Given the description of an element on the screen output the (x, y) to click on. 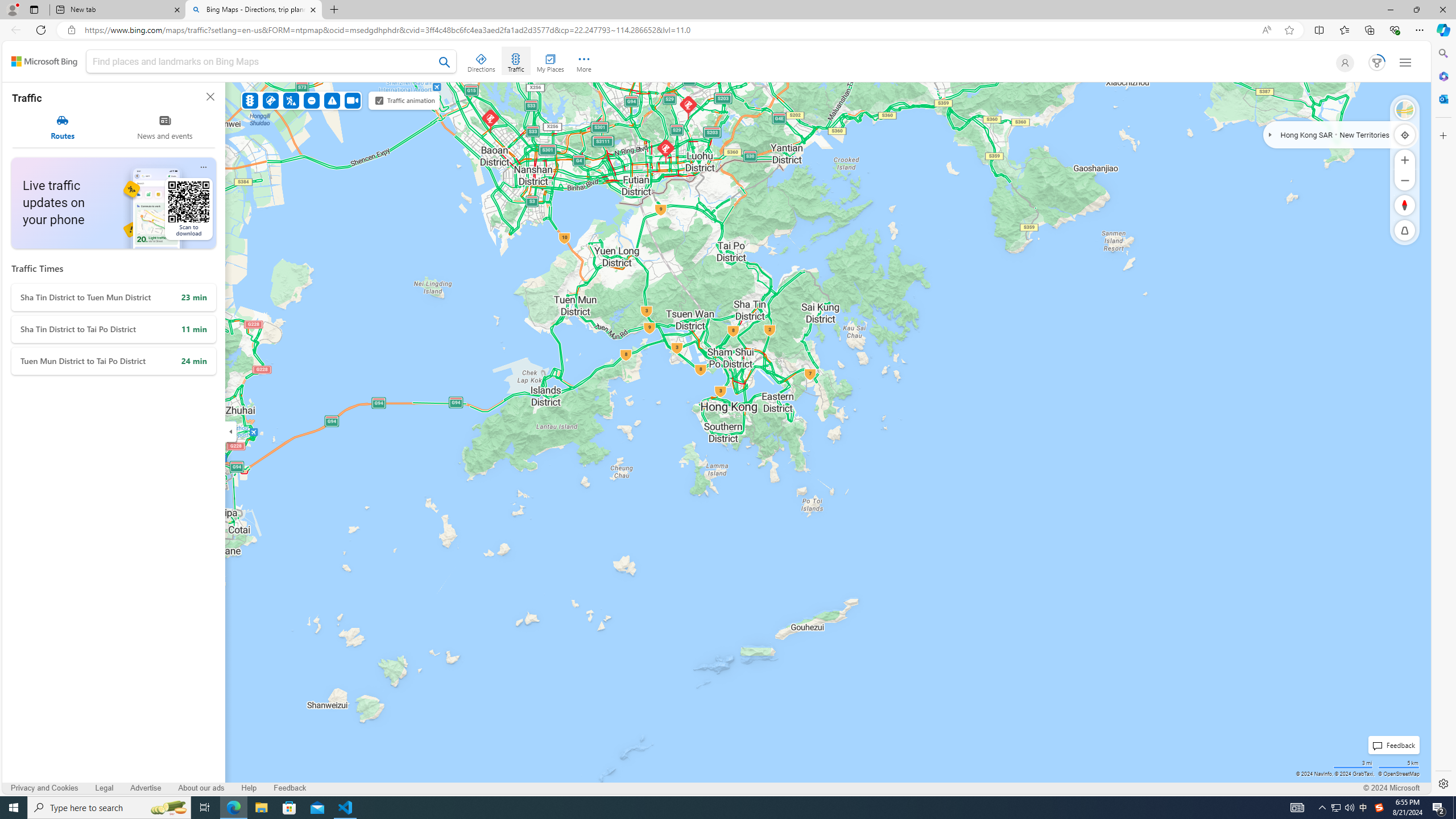
Directions (481, 60)
Road Closures (312, 100)
Microsoft Rewards  (1374, 62)
Traffic animation (378, 100)
Class: inputbox (270, 62)
